Given the description of an element on the screen output the (x, y) to click on. 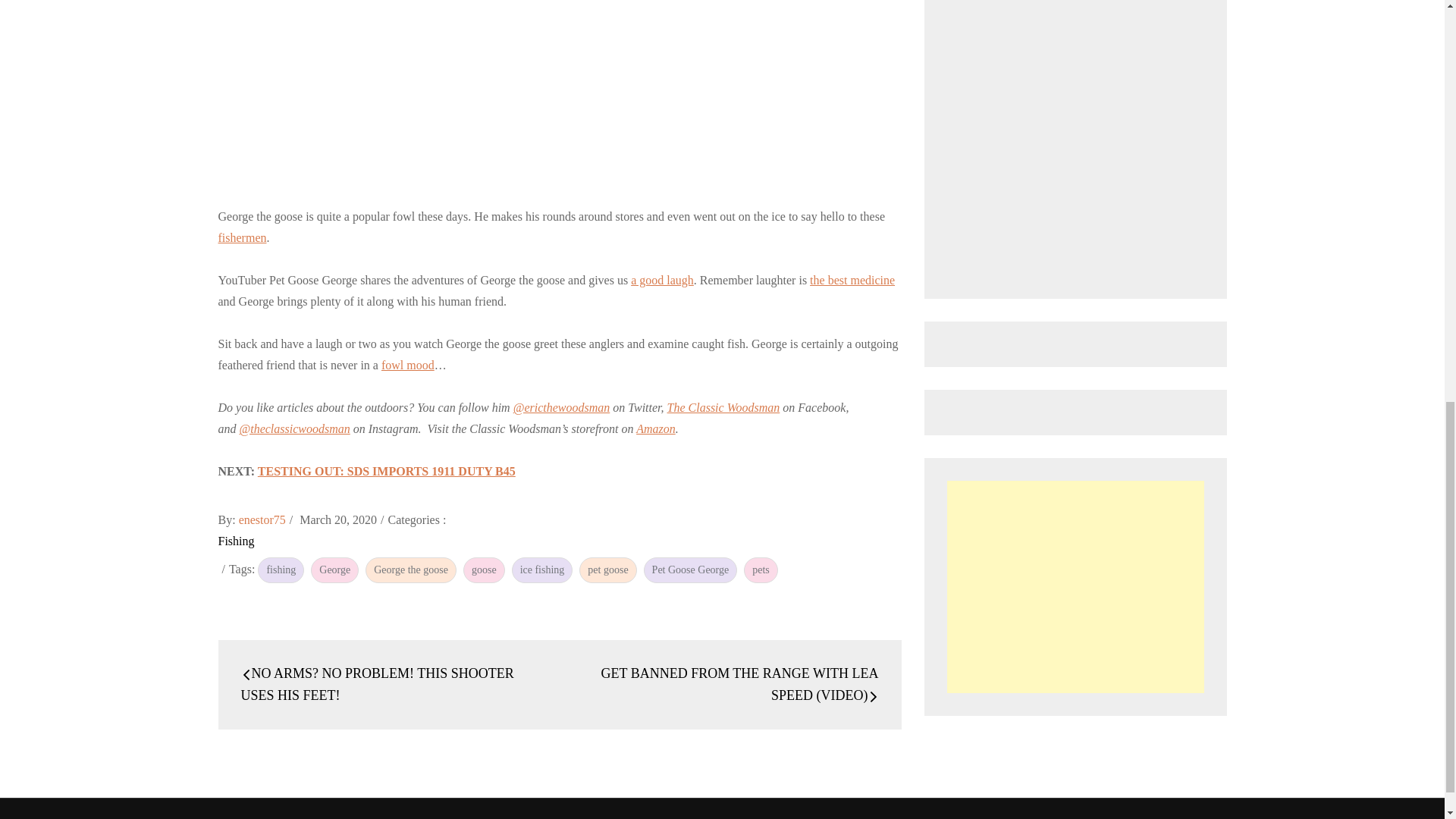
George the goose (411, 570)
The Classic Woodsman (723, 407)
fowl mood (407, 364)
George (334, 570)
pet goose (607, 570)
March 20, 2020 (338, 519)
Fishing (236, 540)
Advertisement (1075, 586)
enestor75 (261, 519)
The Classic Woodsman (716, 818)
